Given the description of an element on the screen output the (x, y) to click on. 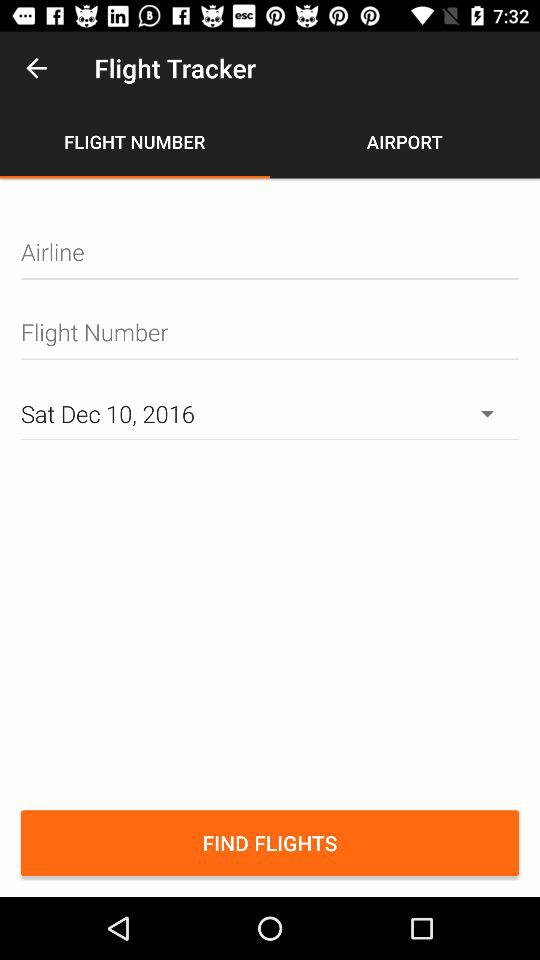
tap the item above flight number item (36, 68)
